Given the description of an element on the screen output the (x, y) to click on. 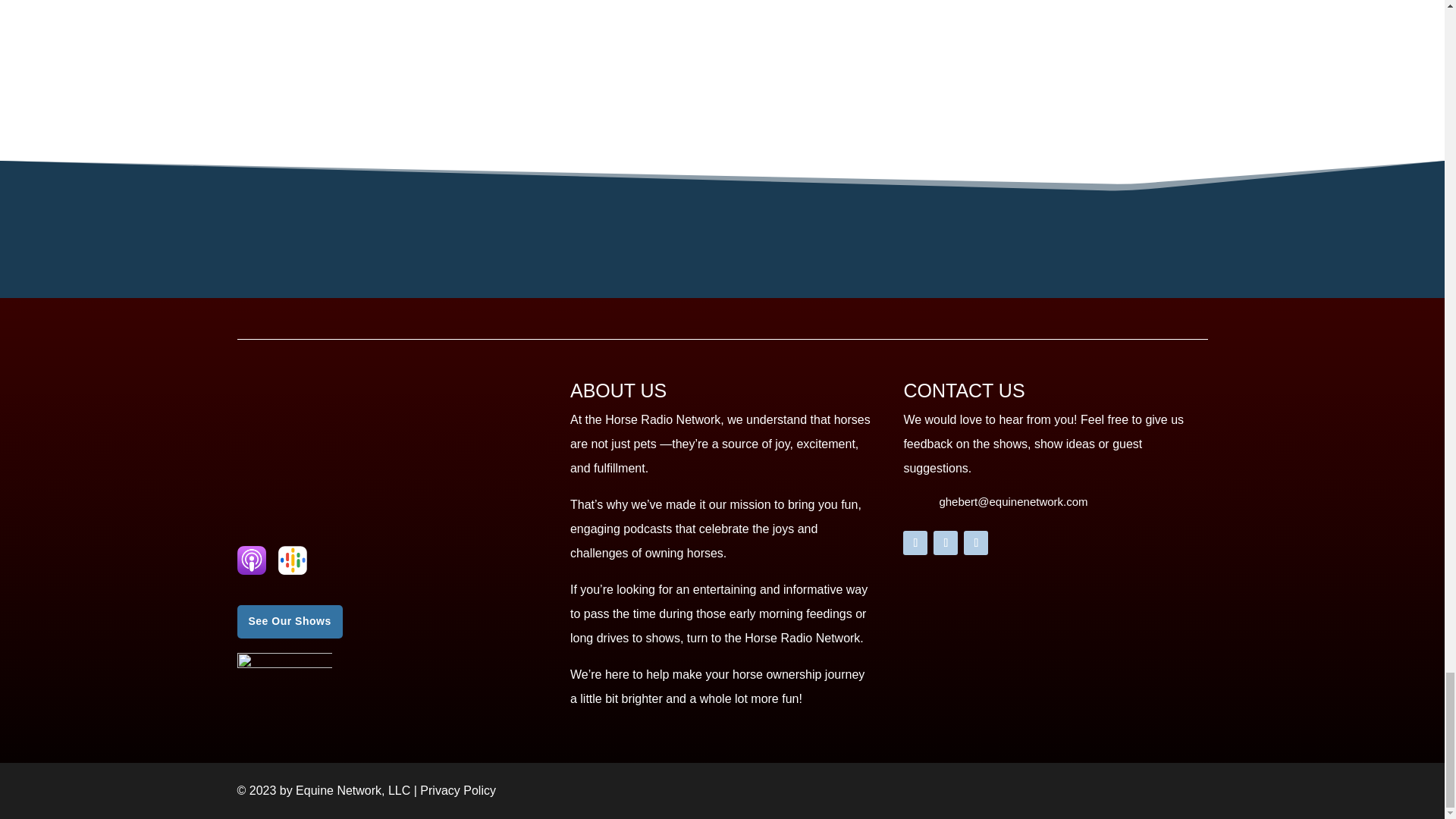
Follow on X (945, 542)
Follow on Instagram (975, 542)
Follow on Facebook (914, 542)
